Given the description of an element on the screen output the (x, y) to click on. 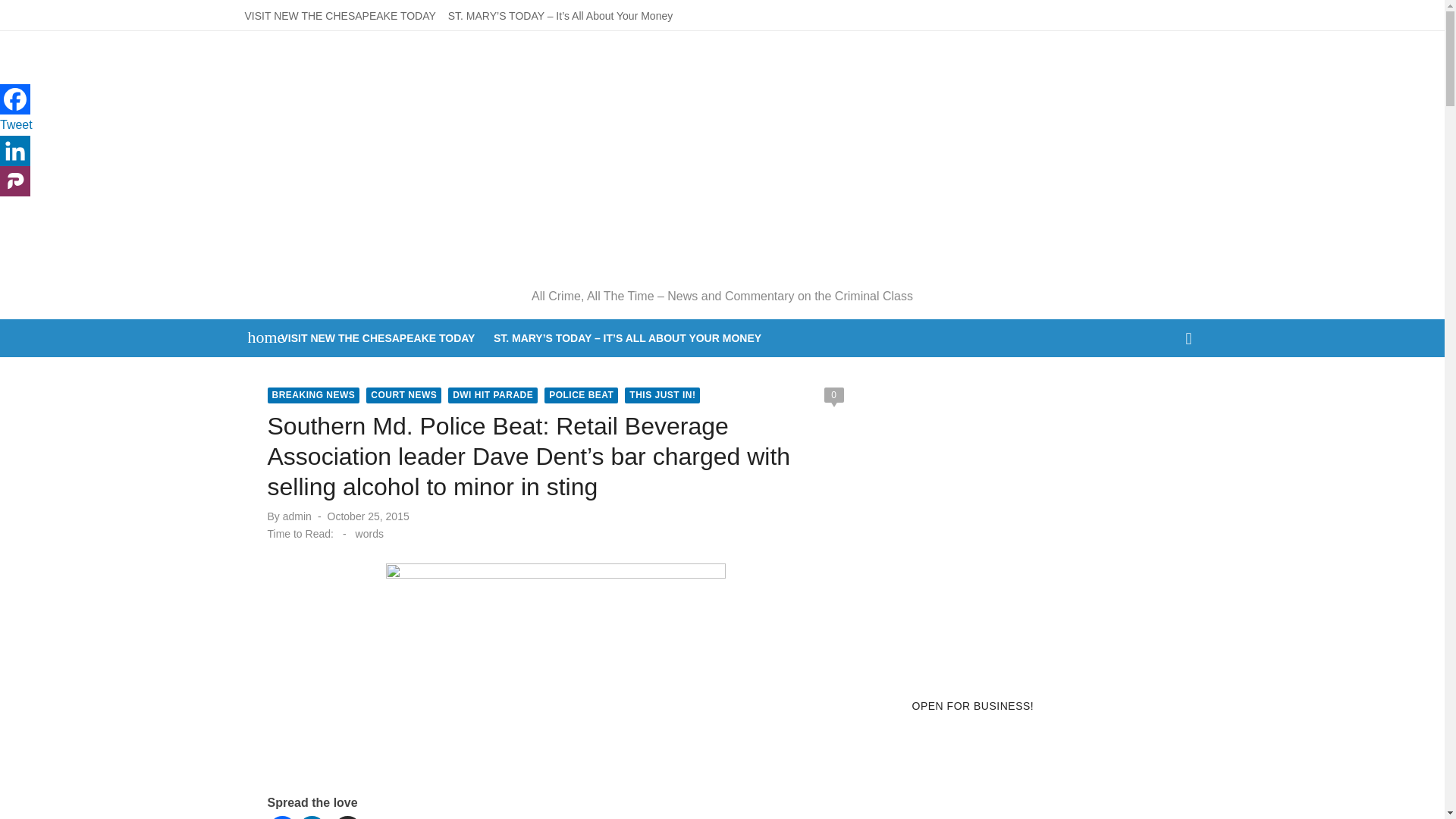
DWI HIT PARADE (492, 395)
Linkedin (311, 817)
0 (833, 394)
COURT NEWS (403, 395)
X (346, 817)
VISIT NEW THE CHESAPEAKE TODAY (377, 338)
BREAKING NEWS (312, 395)
home (258, 336)
VISIT NEW THE CHESAPEAKE TODAY (339, 15)
Tweet (16, 124)
POLICE BEAT (580, 395)
admin (296, 516)
Parler (15, 181)
Facebook (281, 817)
Linkedin (15, 150)
